Given the description of an element on the screen output the (x, y) to click on. 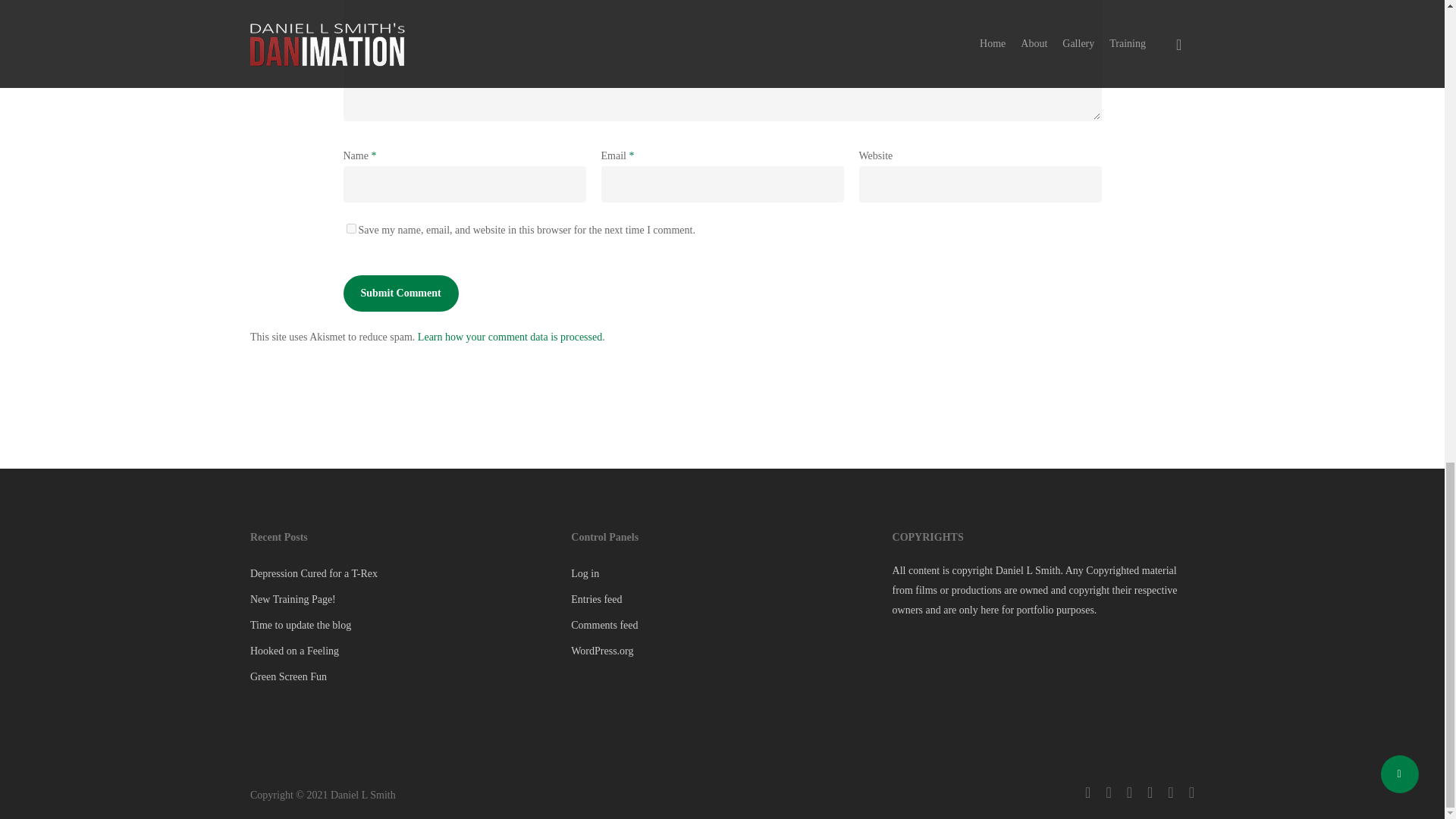
Learn how your comment data is processed (509, 337)
Submit Comment (400, 293)
Submit Comment (400, 293)
yes (350, 228)
